Given the description of an element on the screen output the (x, y) to click on. 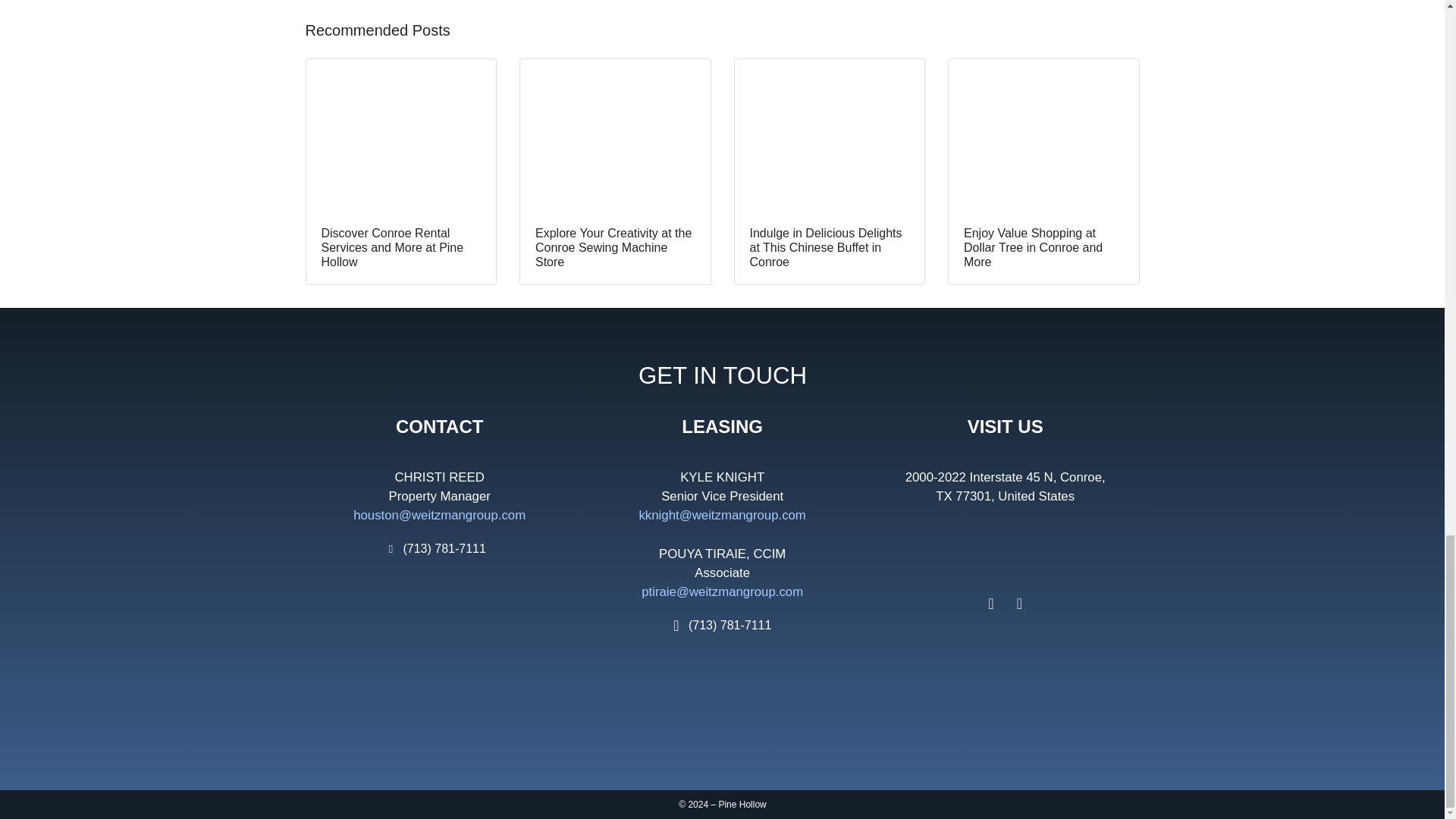
Enjoy Value Shopping at Dollar Tree in Conroe and More 6 (1043, 134)
Explore Your Creativity at the Conroe Sewing Machine Store 4 (614, 134)
Discover Conroe Rental Services and More at Pine Hollow 3 (400, 134)
